Given the description of an element on the screen output the (x, y) to click on. 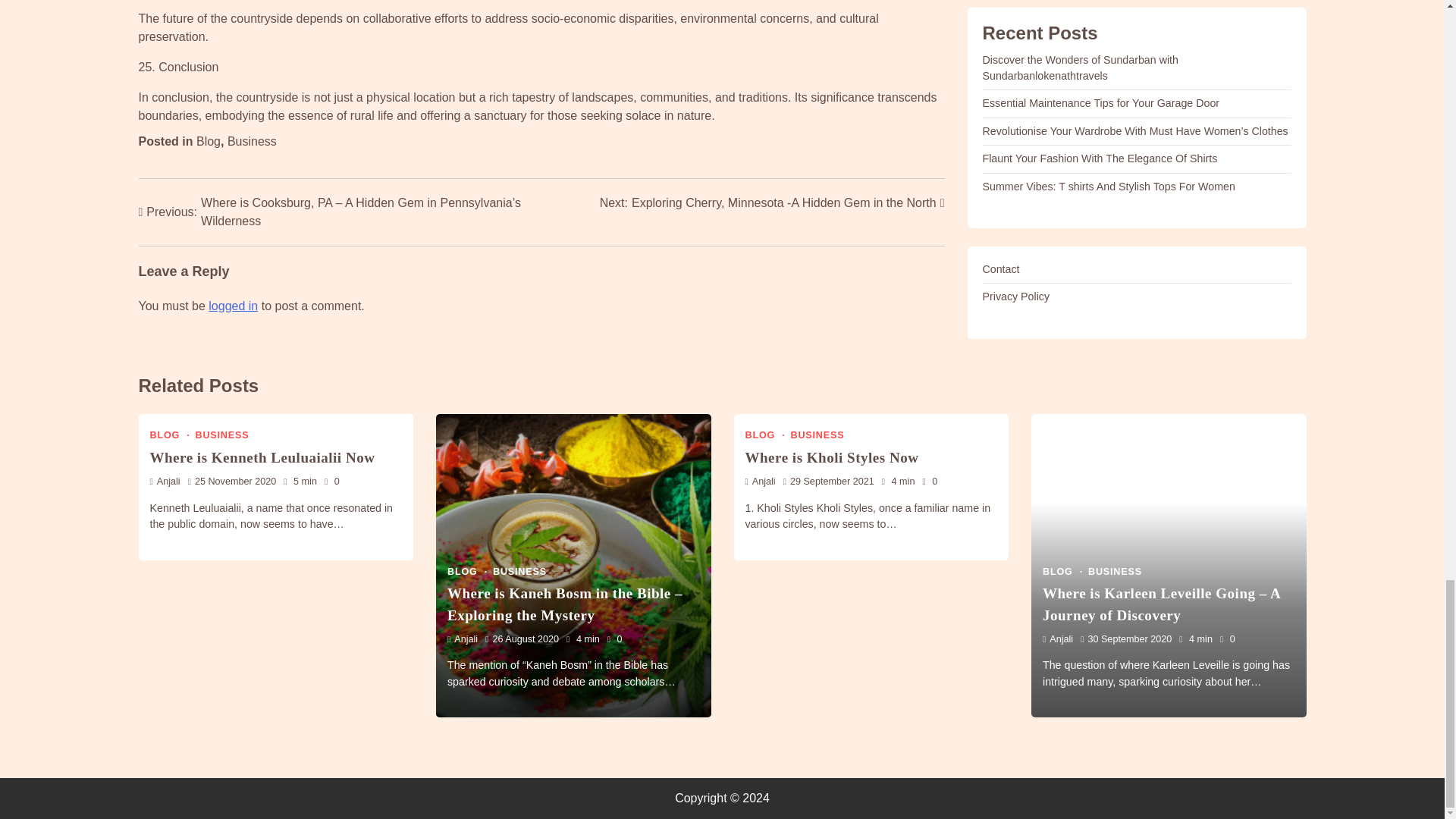
BUSINESS (817, 434)
BLOG (466, 571)
logged in (232, 305)
Business (251, 141)
Anjali (461, 638)
Where is Kholi Styles Now (831, 457)
Where is Kenneth Leuluaialii Now (262, 457)
BLOG (169, 434)
BUSINESS (221, 434)
BUSINESS (520, 571)
Anjali (164, 480)
BLOG (771, 203)
Blog (764, 434)
